Given the description of an element on the screen output the (x, y) to click on. 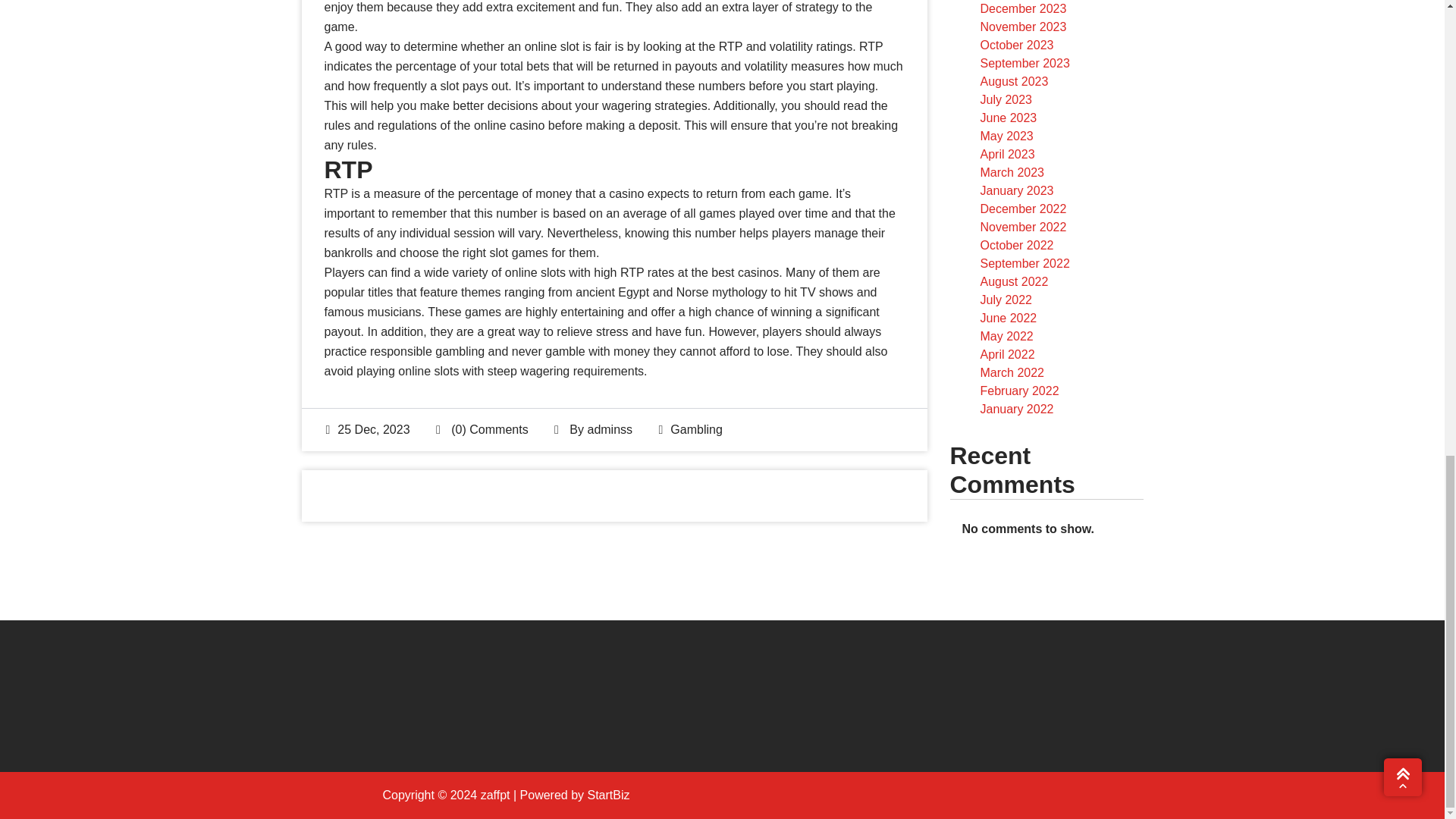
September 2023 (1023, 62)
25 Dec, 2023 (368, 429)
April 2023 (1006, 154)
Gambling (695, 429)
June 2023 (1007, 117)
December 2023 (1022, 8)
July 2023 (1005, 99)
August 2023 (1013, 81)
March 2023 (1011, 172)
May 2023 (1005, 135)
